Given the description of an element on the screen output the (x, y) to click on. 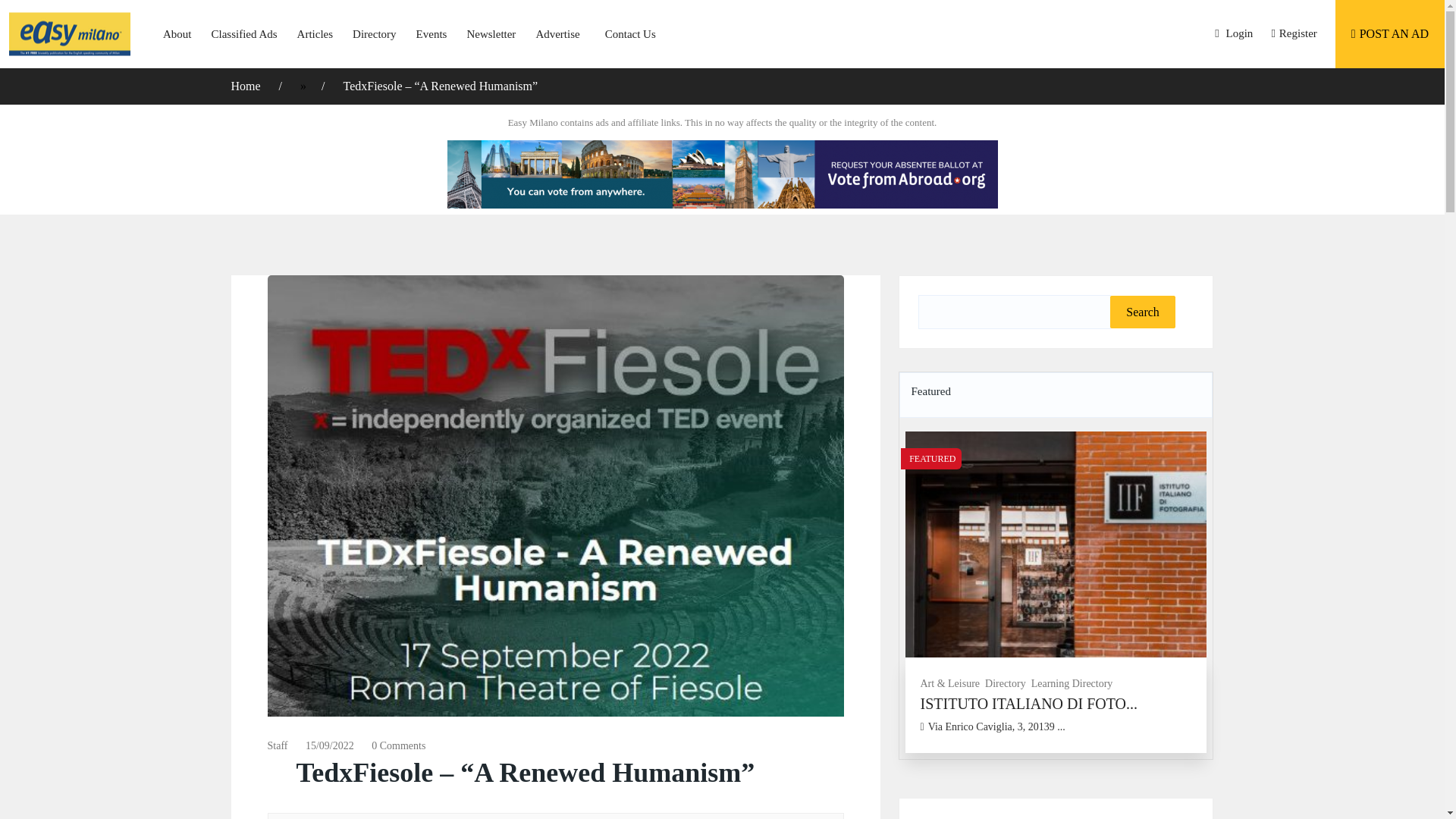
0 Comments (398, 745)
Advertise (557, 33)
Register (1293, 33)
Contact Us (622, 33)
Search (1141, 312)
Classified Ads (244, 33)
Login (1233, 33)
Newsletter (491, 33)
Home (246, 85)
POST AN AD (1389, 33)
